Given the description of an element on the screen output the (x, y) to click on. 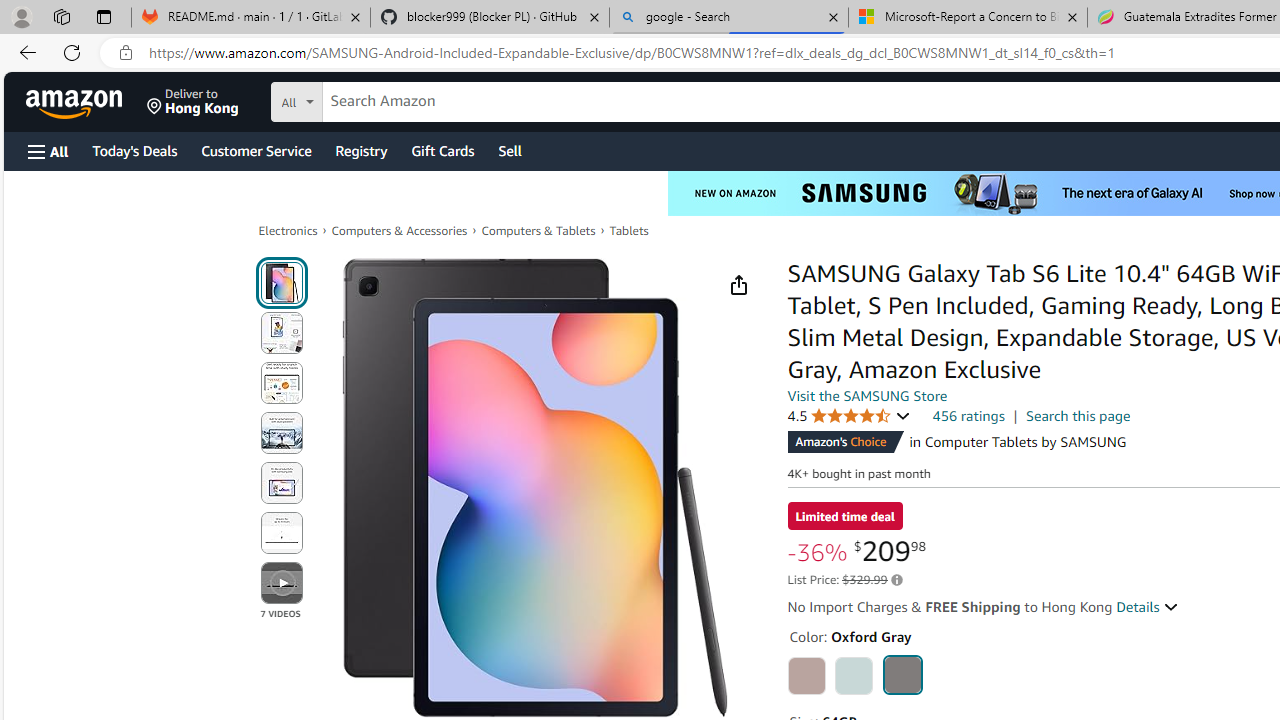
Computers & Tablets (538, 230)
Details  (1148, 606)
Computers & Accessories (399, 230)
Search this page (1078, 416)
Registry (360, 150)
Computers & Accessories (399, 230)
Learn more about Amazon pricing and savings (895, 579)
